Given the description of an element on the screen output the (x, y) to click on. 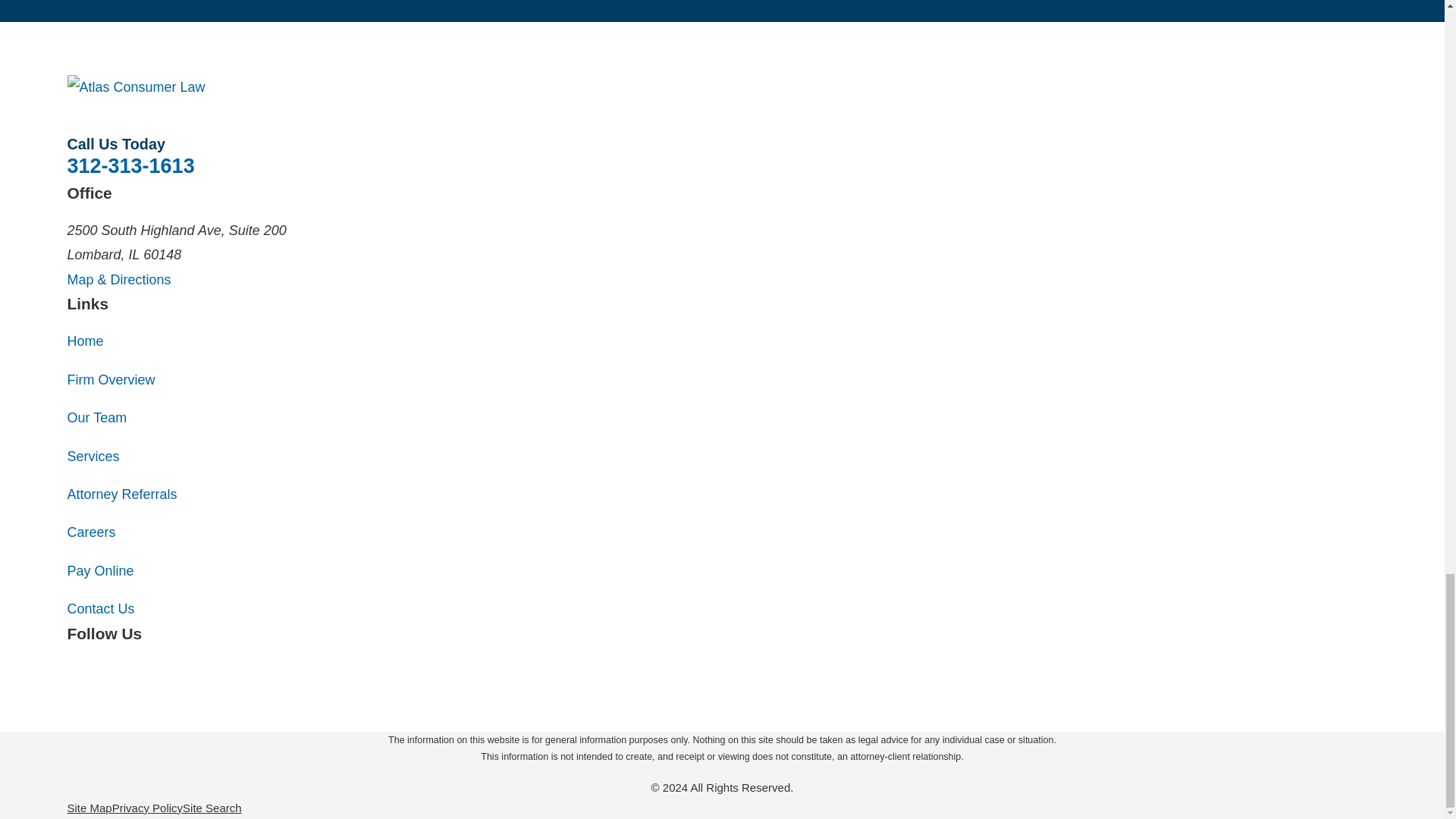
Home (721, 87)
Twitter (115, 668)
Facebook (75, 668)
LinkedIn (156, 668)
